Given the description of an element on the screen output the (x, y) to click on. 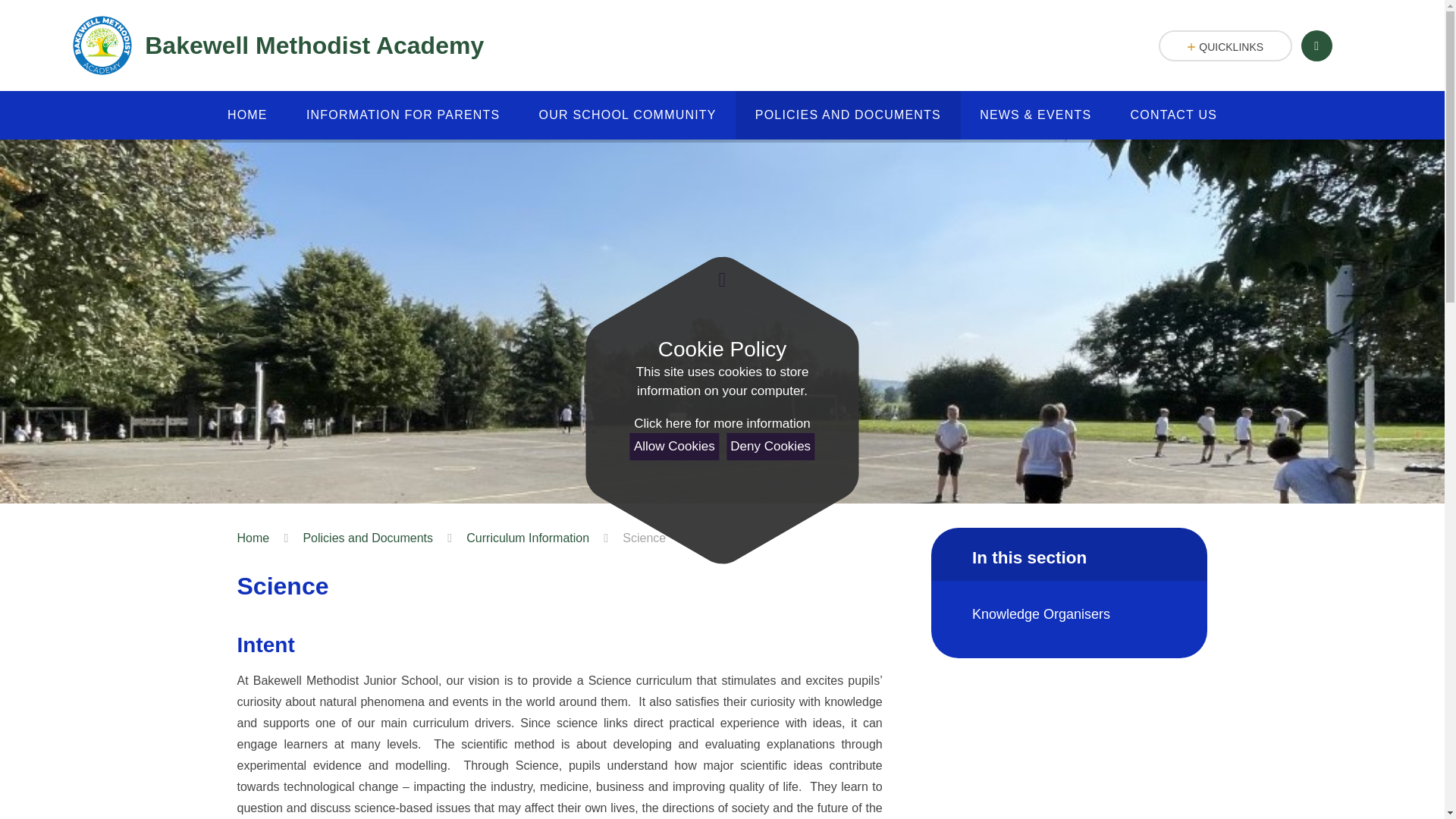
Allow Cookies (674, 446)
Bakewell Methodist Academy (277, 45)
INFORMATION FOR PARENTS (402, 114)
OUR SCHOOL COMMUNITY (627, 114)
HOME (247, 114)
Deny Cookies (769, 446)
See cookie policy (721, 424)
